Given the description of an element on the screen output the (x, y) to click on. 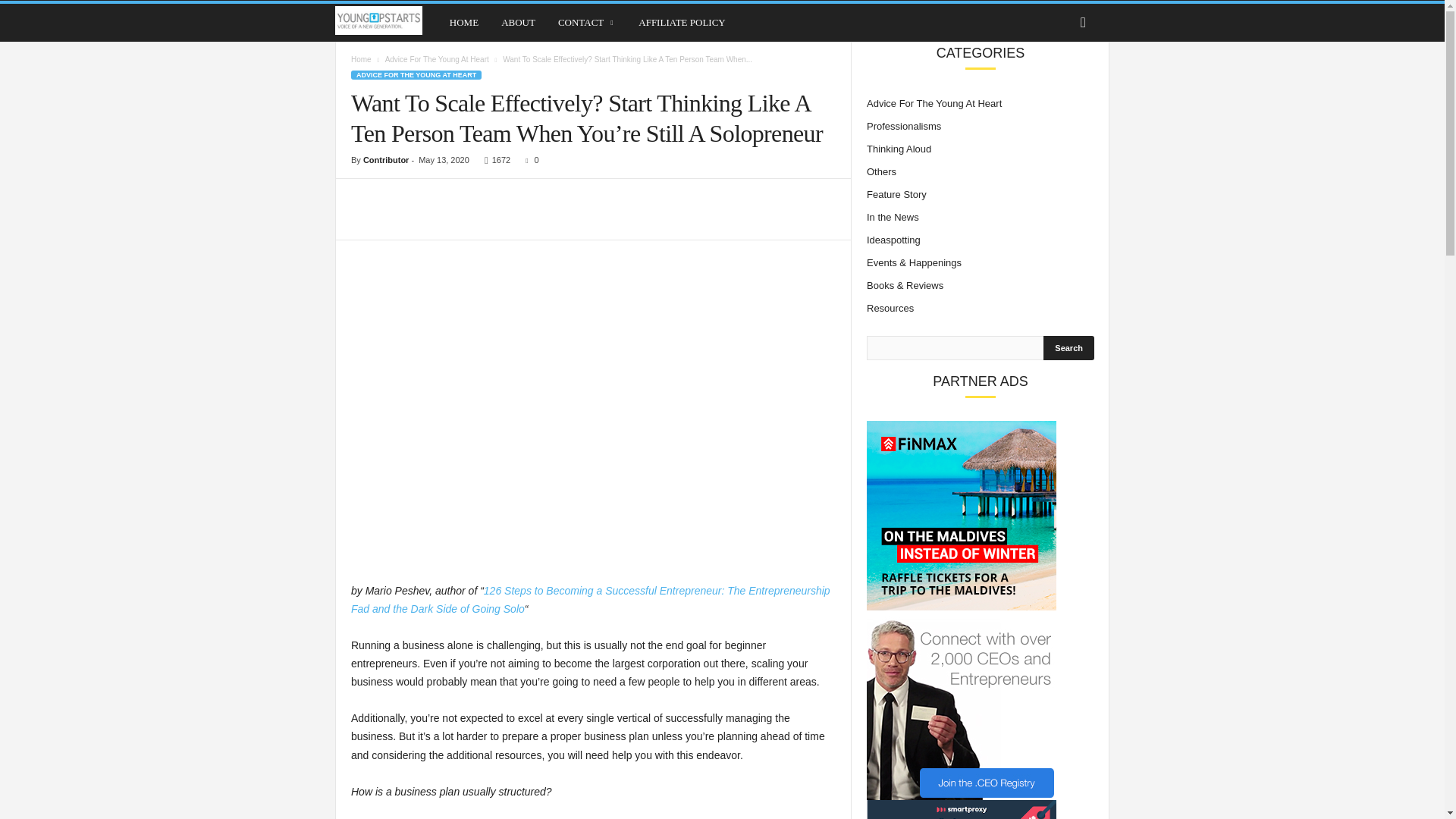
Contributor (385, 159)
AFFILIATE POLICY (681, 22)
ABOUT (518, 22)
HOME (463, 22)
View all posts in Advice For The Young At Heart (437, 59)
Advice For The Young At Heart (437, 59)
ADVICE FOR THE YOUNG AT HEART (415, 74)
Young Upstarts (386, 20)
Home (360, 59)
